Given the description of an element on the screen output the (x, y) to click on. 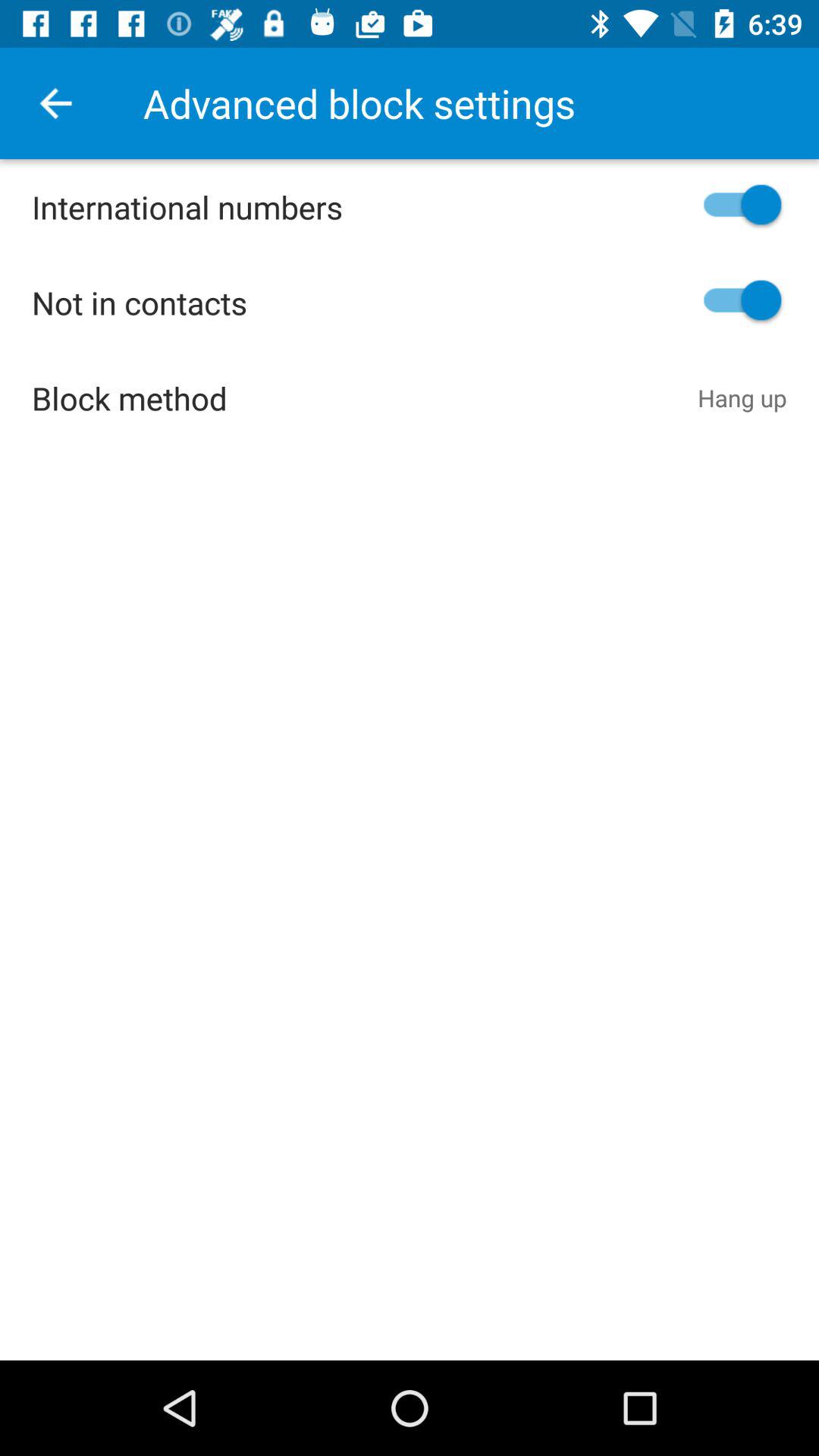
open the item to the left of the advanced block settings icon (55, 103)
